Given the description of an element on the screen output the (x, y) to click on. 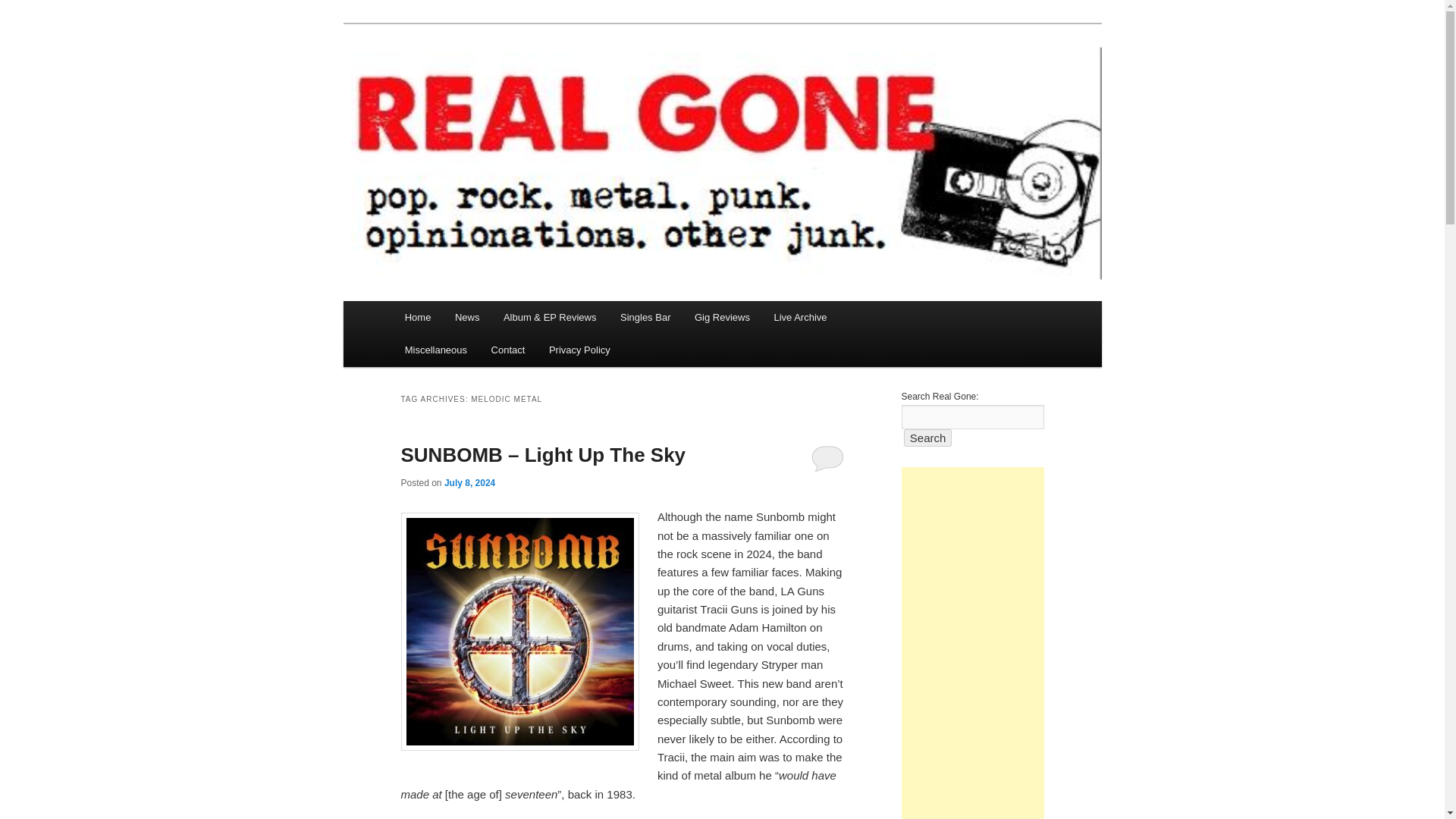
Privacy Policy (579, 349)
10:20 am (469, 482)
July 8, 2024 (469, 482)
Singles Bar (645, 317)
Gig Reviews (721, 317)
Contact (508, 349)
Search (928, 437)
Live Archive (800, 317)
Miscellaneous (436, 349)
Real Gone (456, 78)
News (467, 317)
Home (417, 317)
